Given the description of an element on the screen output the (x, y) to click on. 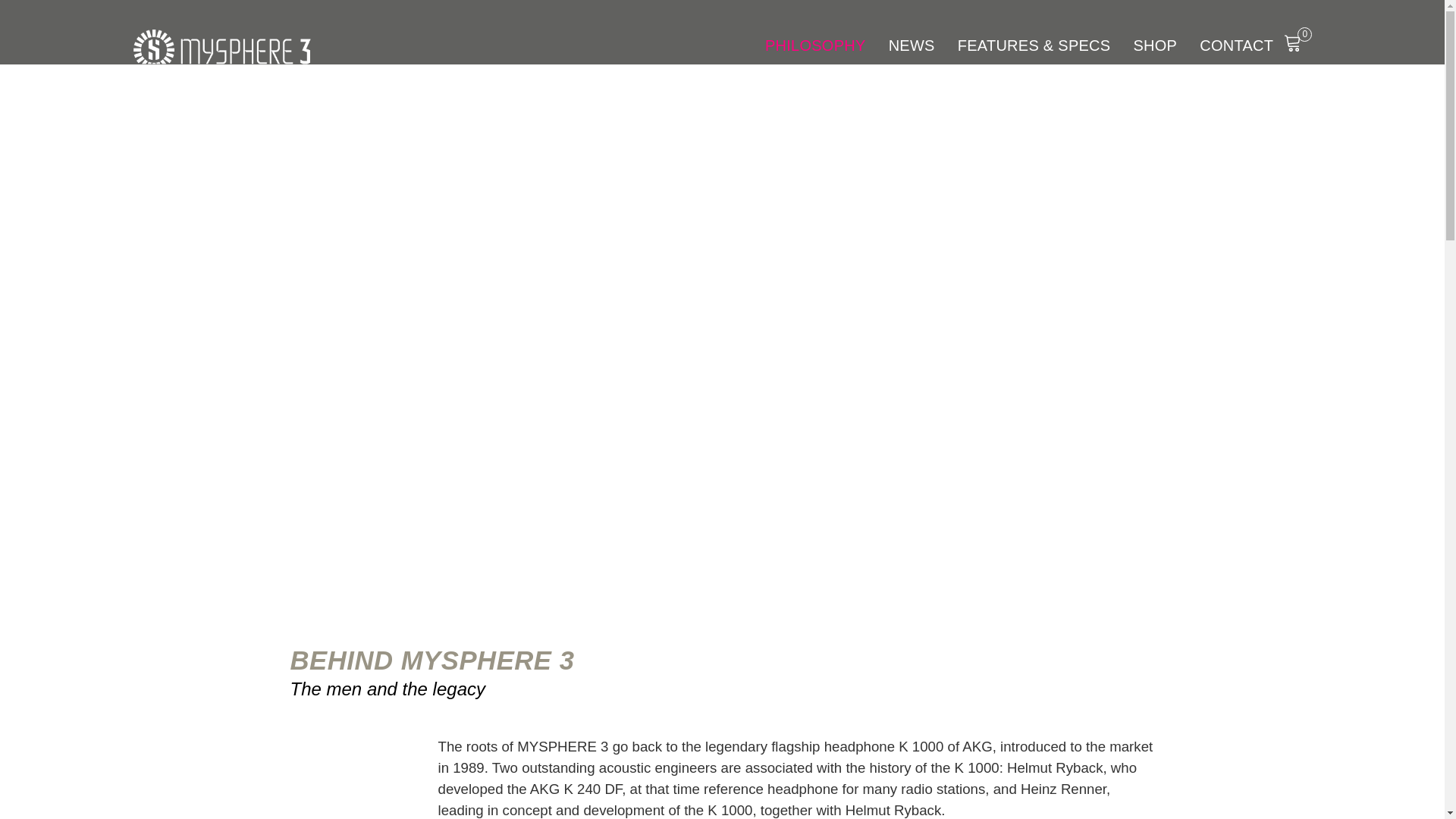
PHILOSOPHY (815, 45)
CONTACT (1236, 45)
News (911, 45)
Shop (1154, 45)
Philosophy (815, 45)
0 (1298, 40)
Contact (1236, 45)
NEWS (911, 45)
SHOP (1154, 45)
